Given the description of an element on the screen output the (x, y) to click on. 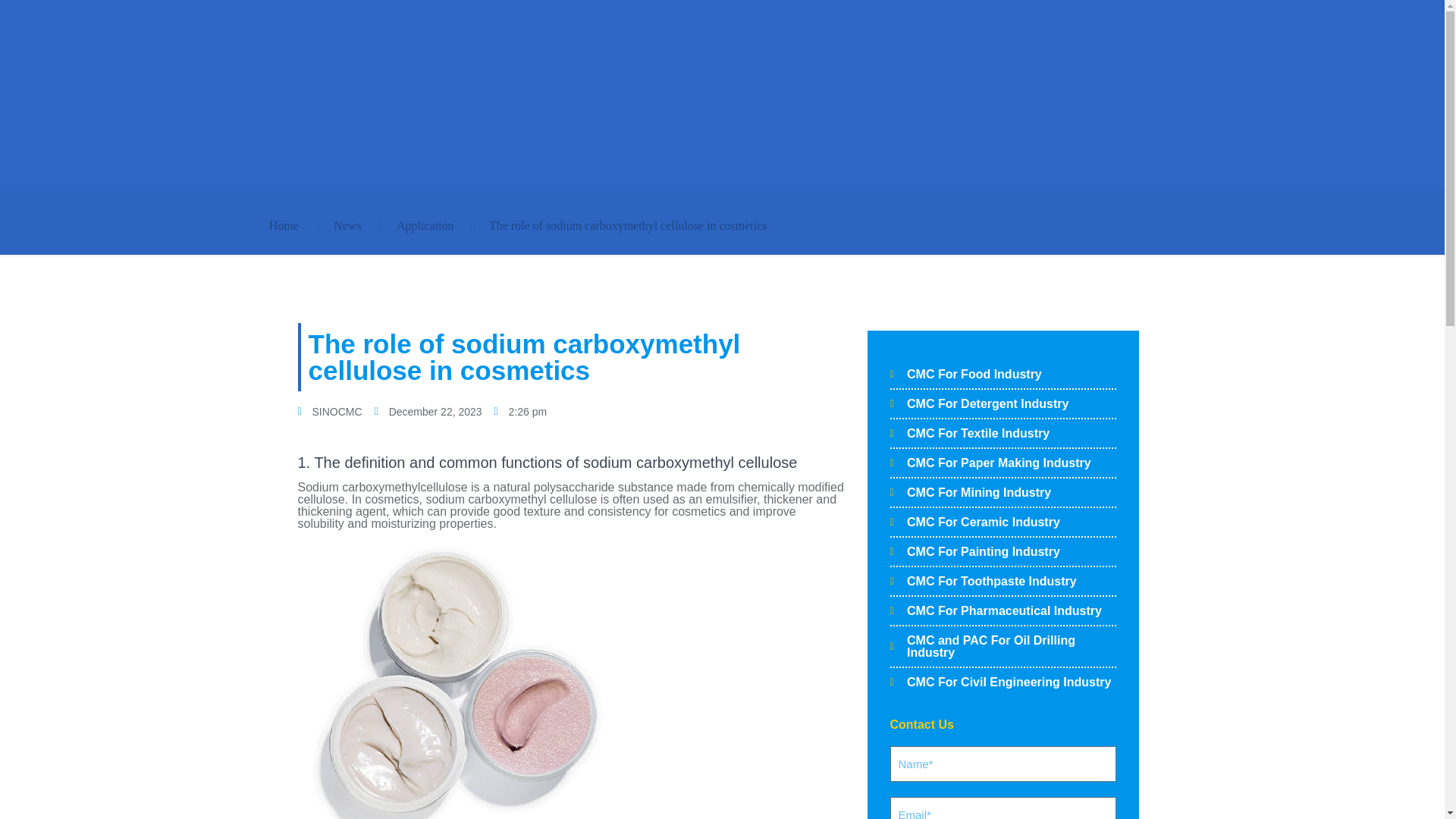
News (347, 225)
CMC For Textile Industry (1002, 433)
CMC For Pharmaceutical Industry (1002, 611)
Home (283, 225)
CMC For Ceramic Industry (1002, 522)
SINOCMC (329, 411)
CMC For Mining Industry (1002, 492)
Application (425, 225)
CMC For Food Industry (1002, 374)
sodium carboxymethyl cellulose (689, 462)
